Given the description of an element on the screen output the (x, y) to click on. 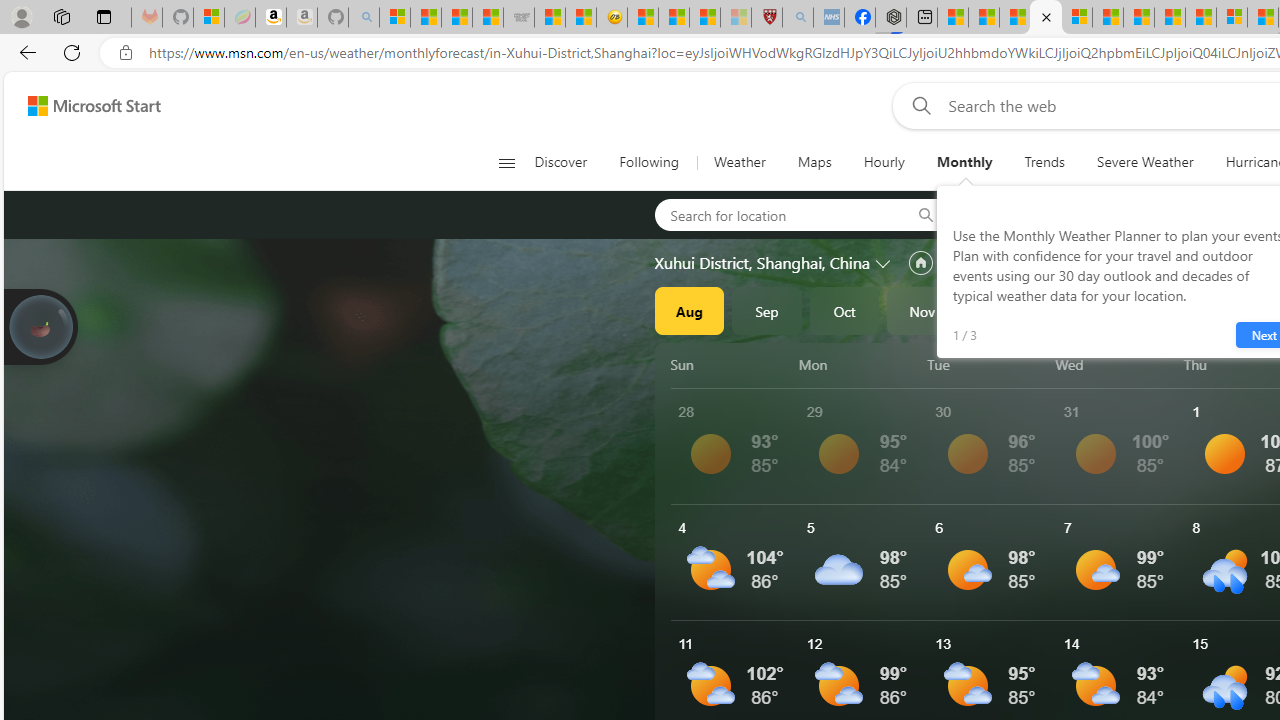
Aug (689, 310)
Mar (1233, 310)
Wed (1115, 363)
Combat Siege (518, 17)
Hourly (883, 162)
